Given the description of an element on the screen output the (x, y) to click on. 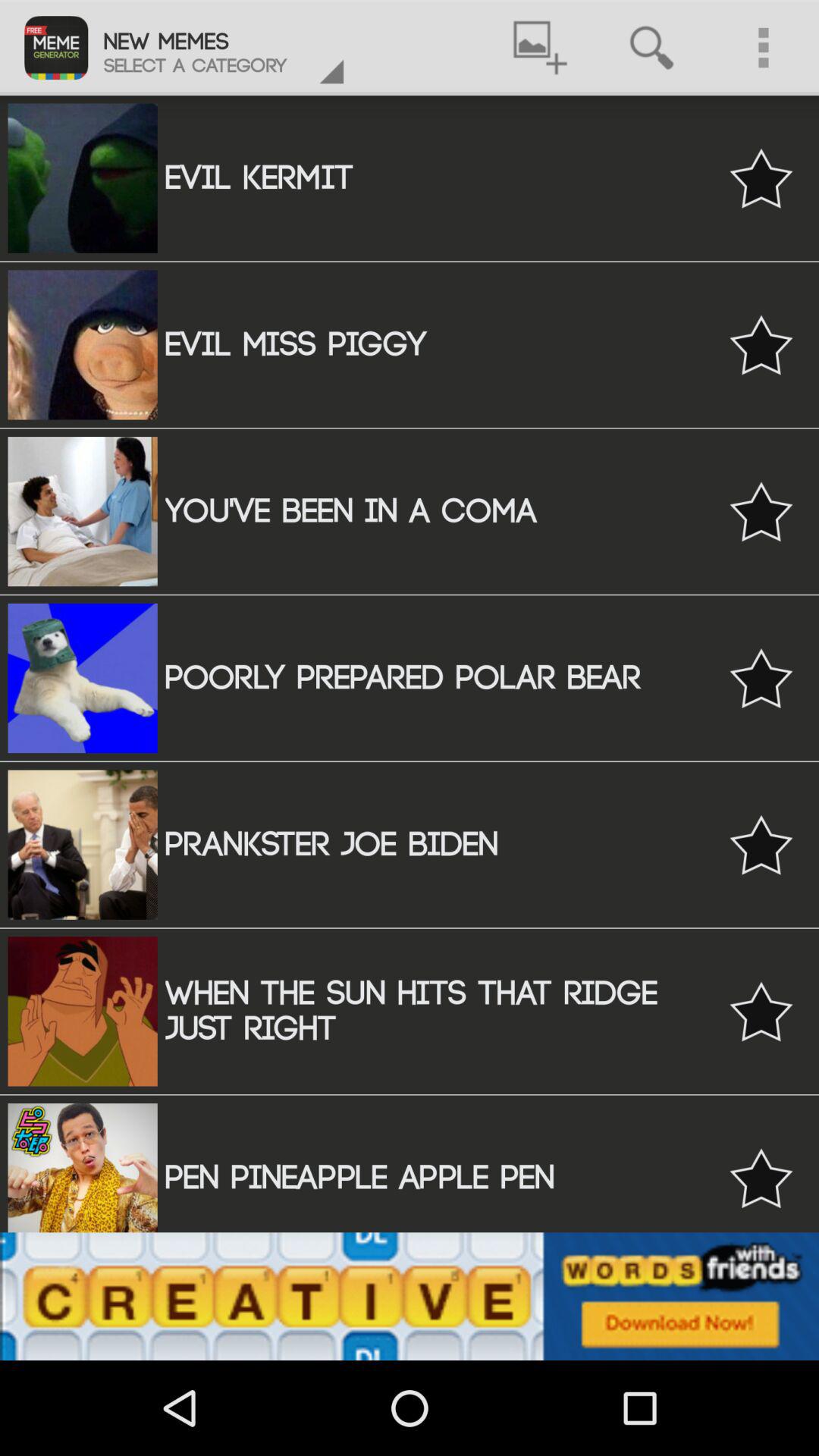
bookmark (761, 678)
